Given the description of an element on the screen output the (x, y) to click on. 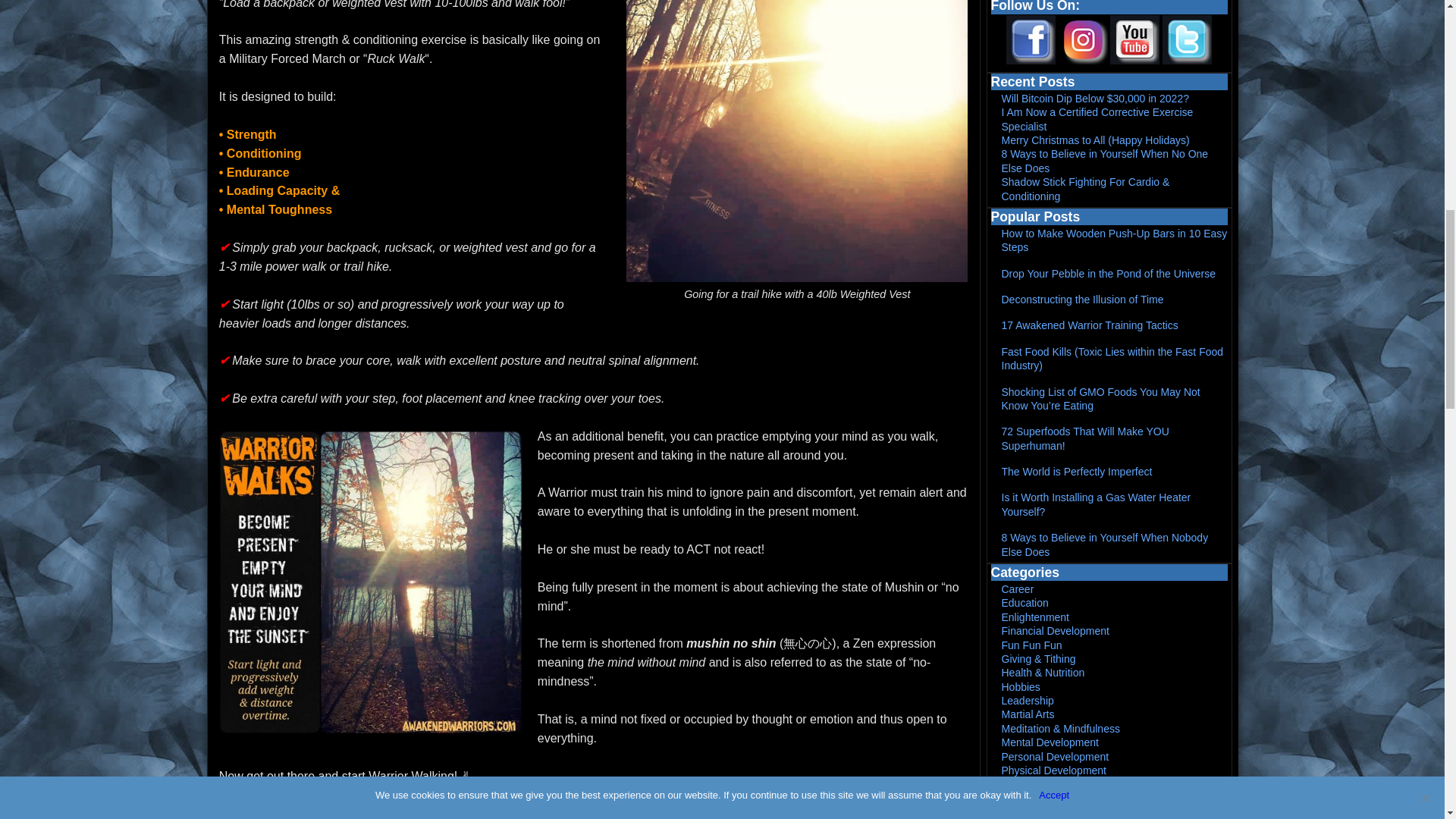
The World is Perfectly Imperfect (1076, 471)
17 Awakened Warrior Training Tactics (1089, 325)
8 Ways to Believe in Yourself When No One Else Does (1104, 160)
I Am Now a Certified Corrective Exercise Specialist (1096, 118)
Is it Worth Installing a Gas Water Heater Yourself? (1096, 503)
72 Superfoods That Will Make YOU Superhuman! (1085, 438)
Drop Your Pebble in the Pond of the Universe (1108, 273)
Deconstructing the Illusion of Time (1082, 299)
How to Make Wooden Push-Up Bars in 10 Easy Steps (1114, 240)
